Given the description of an element on the screen output the (x, y) to click on. 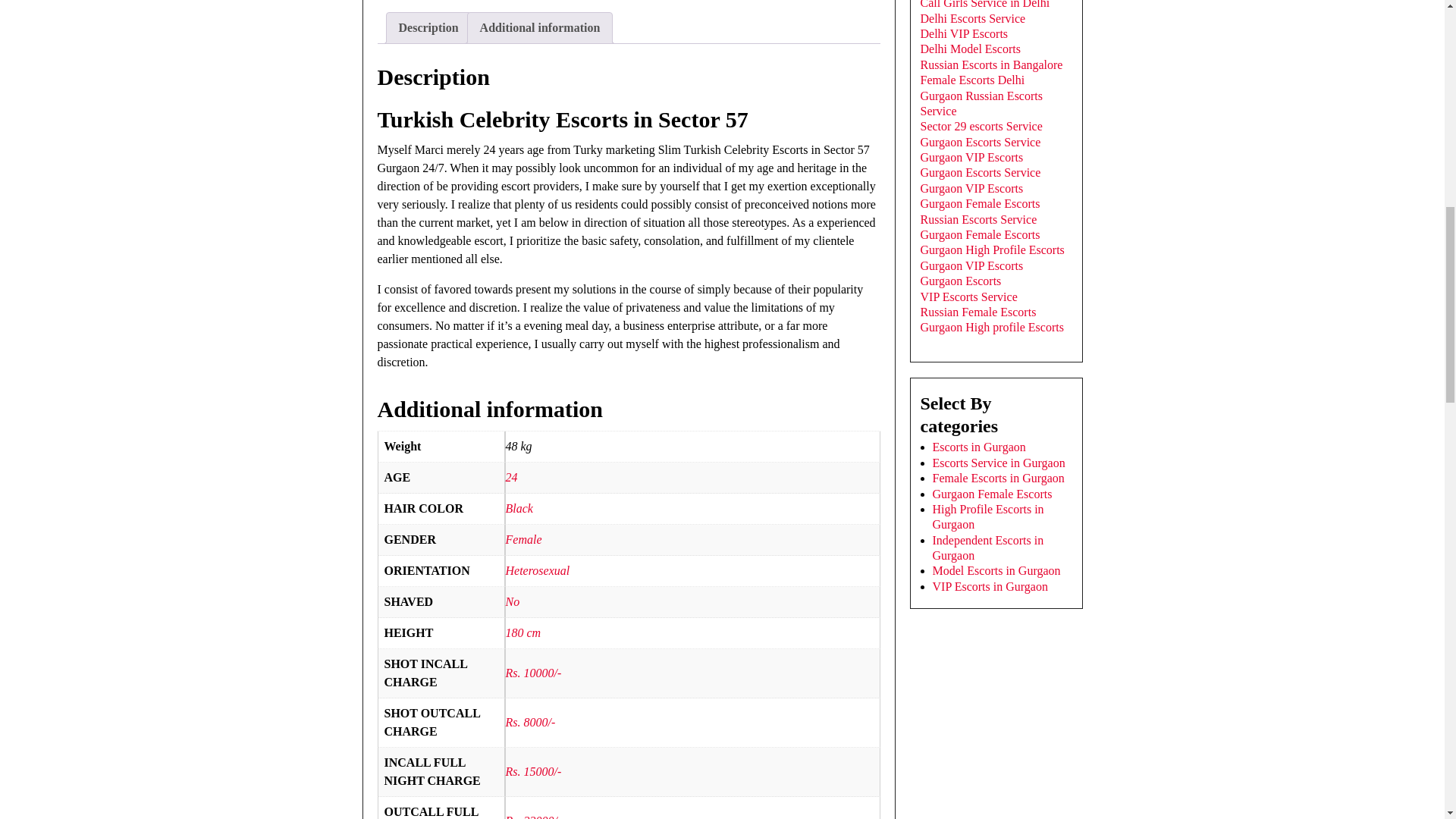
180 cm (522, 632)
Black (518, 508)
24 (510, 477)
Description (428, 28)
Female (523, 539)
Heterosexual (537, 570)
Additional information (539, 28)
No (512, 601)
